Given the description of an element on the screen output the (x, y) to click on. 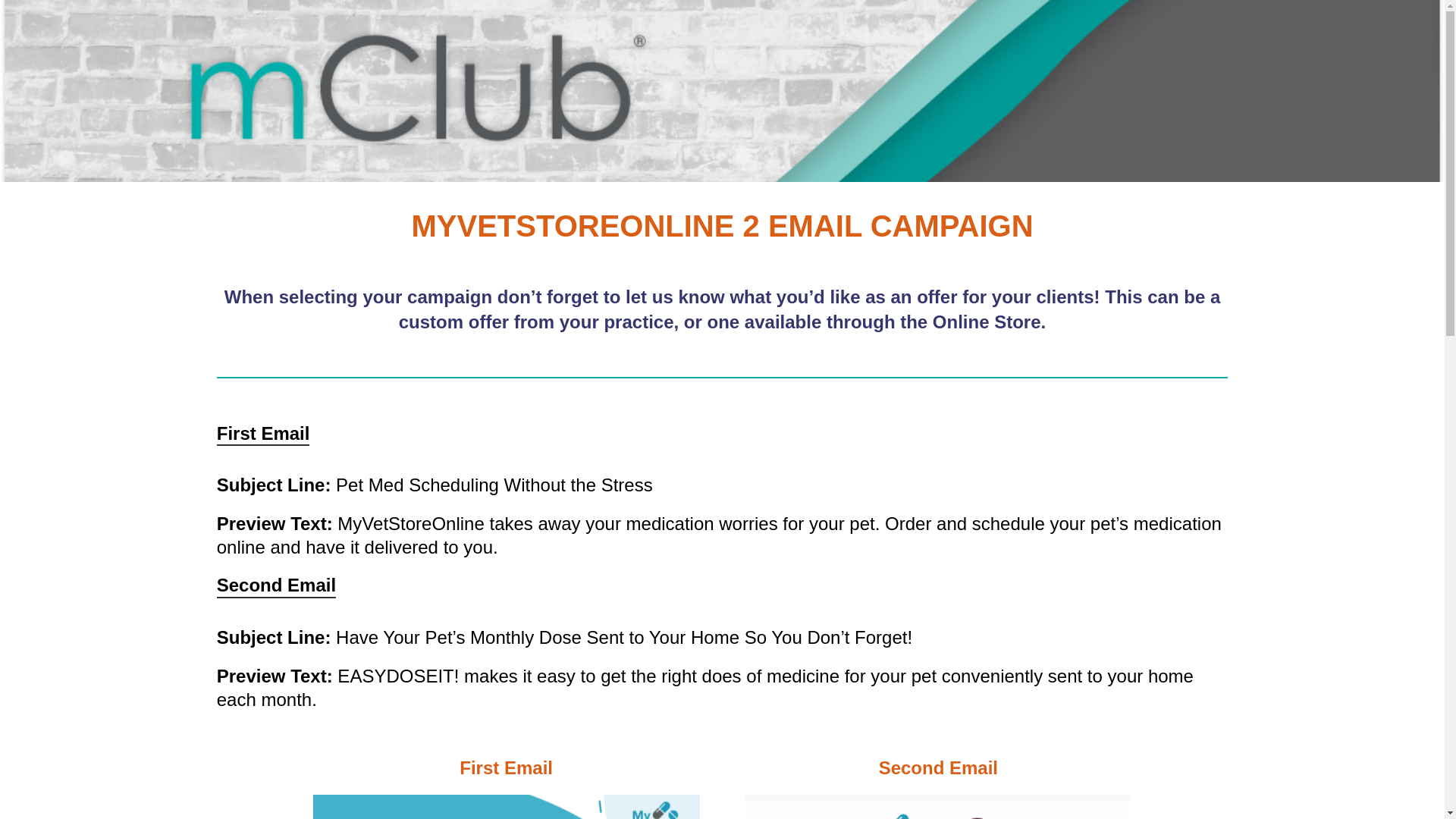
myvetstoreonline2-email2 (937, 806)
myvetstoreonline2-email1 (505, 806)
